Given the description of an element on the screen output the (x, y) to click on. 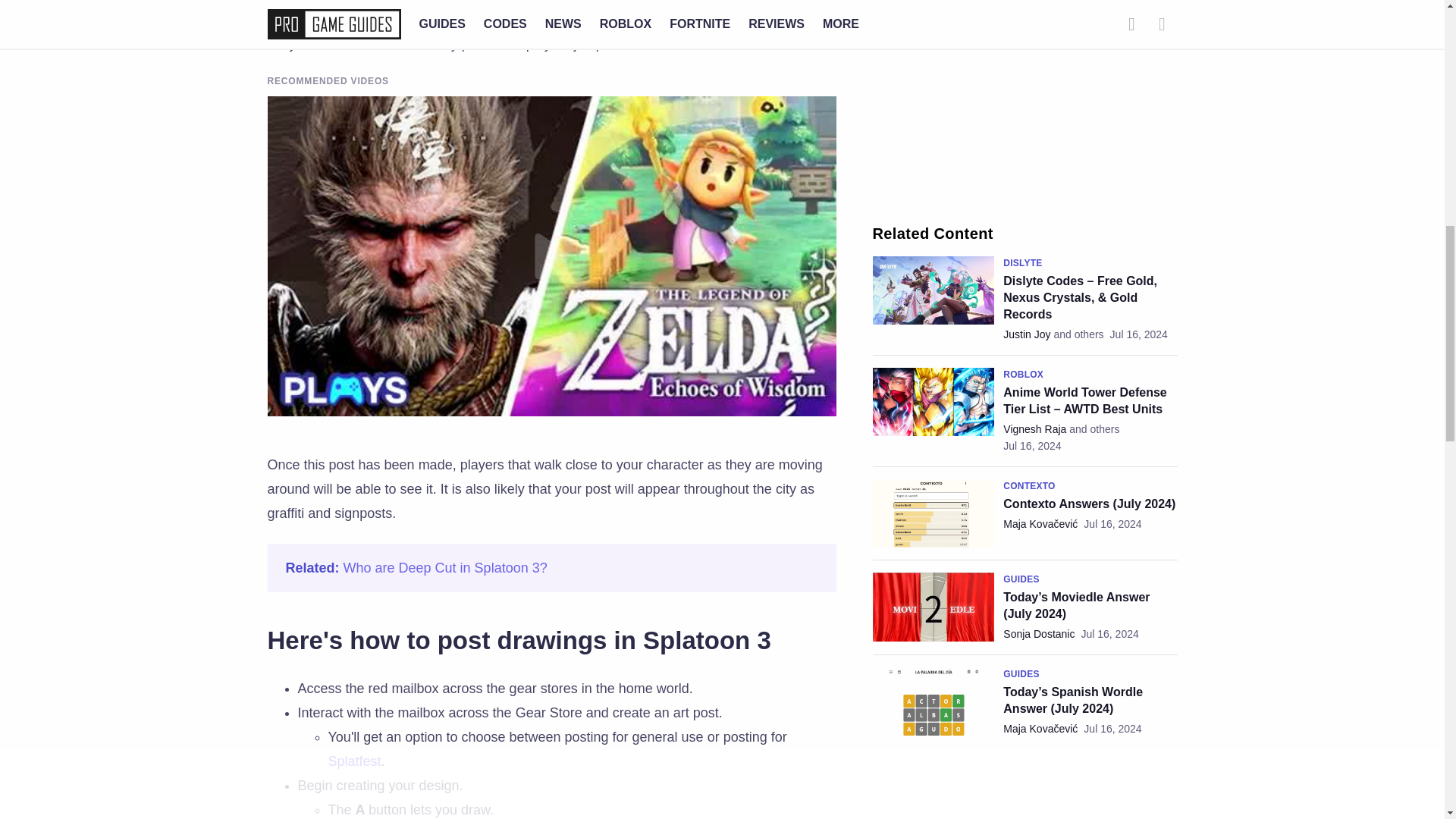
3rd party ad content (1024, 96)
